Given the description of an element on the screen output the (x, y) to click on. 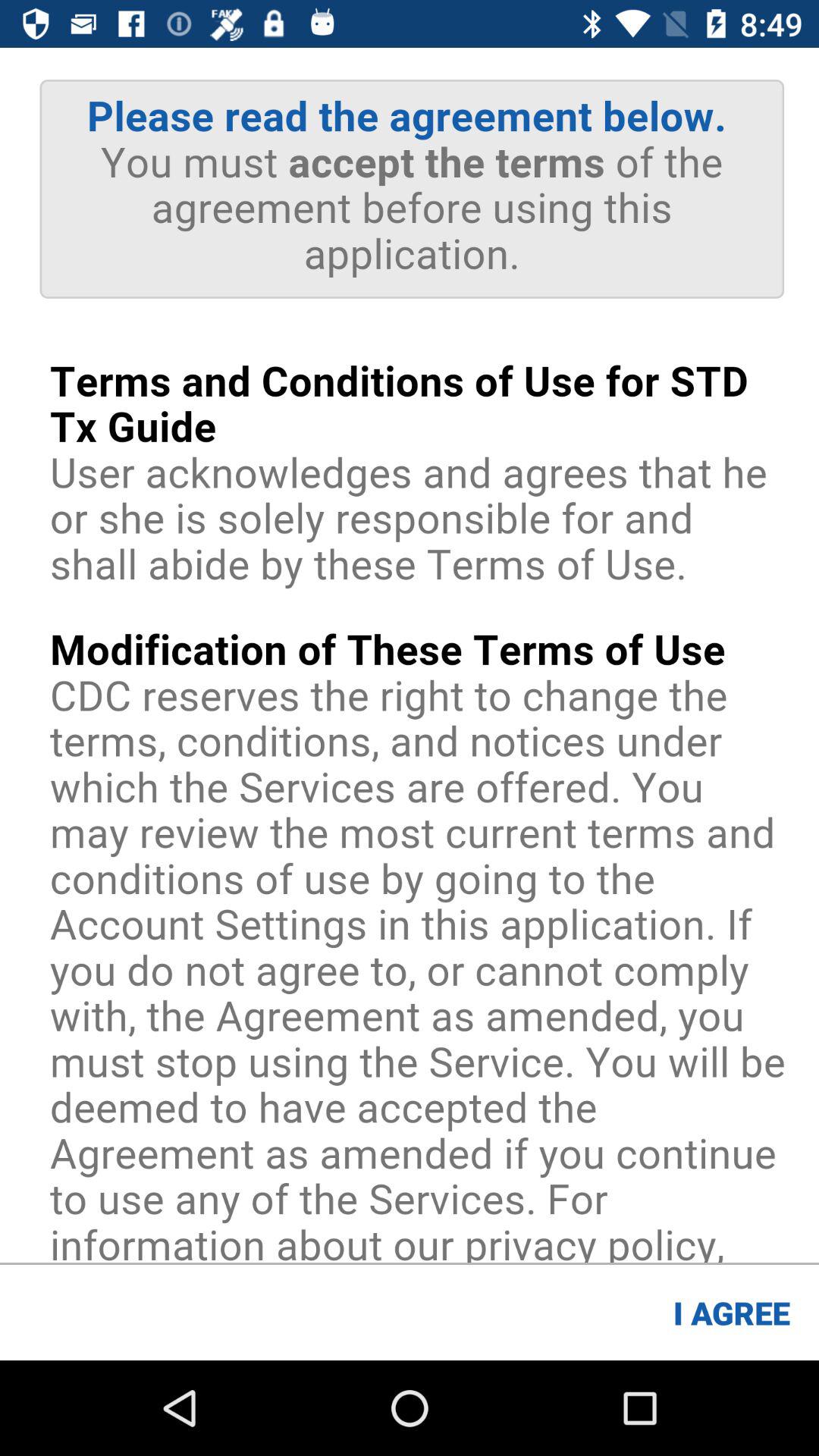
seeing in the paragraph (409, 654)
